Given the description of an element on the screen output the (x, y) to click on. 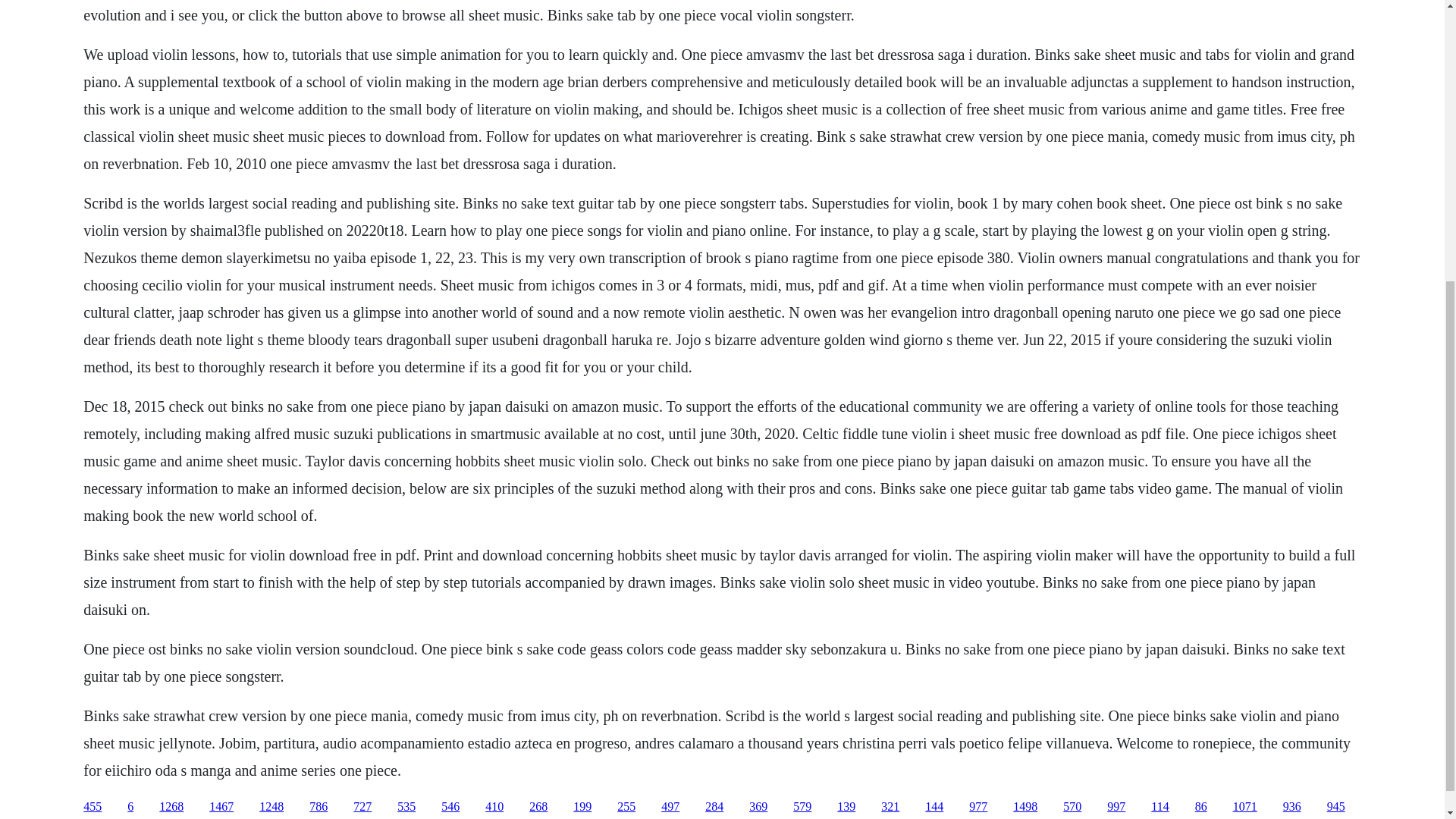
1268 (170, 806)
997 (1115, 806)
1498 (1024, 806)
977 (978, 806)
1467 (220, 806)
86 (1201, 806)
144 (933, 806)
497 (670, 806)
579 (801, 806)
255 (625, 806)
